Given the description of an element on the screen output the (x, y) to click on. 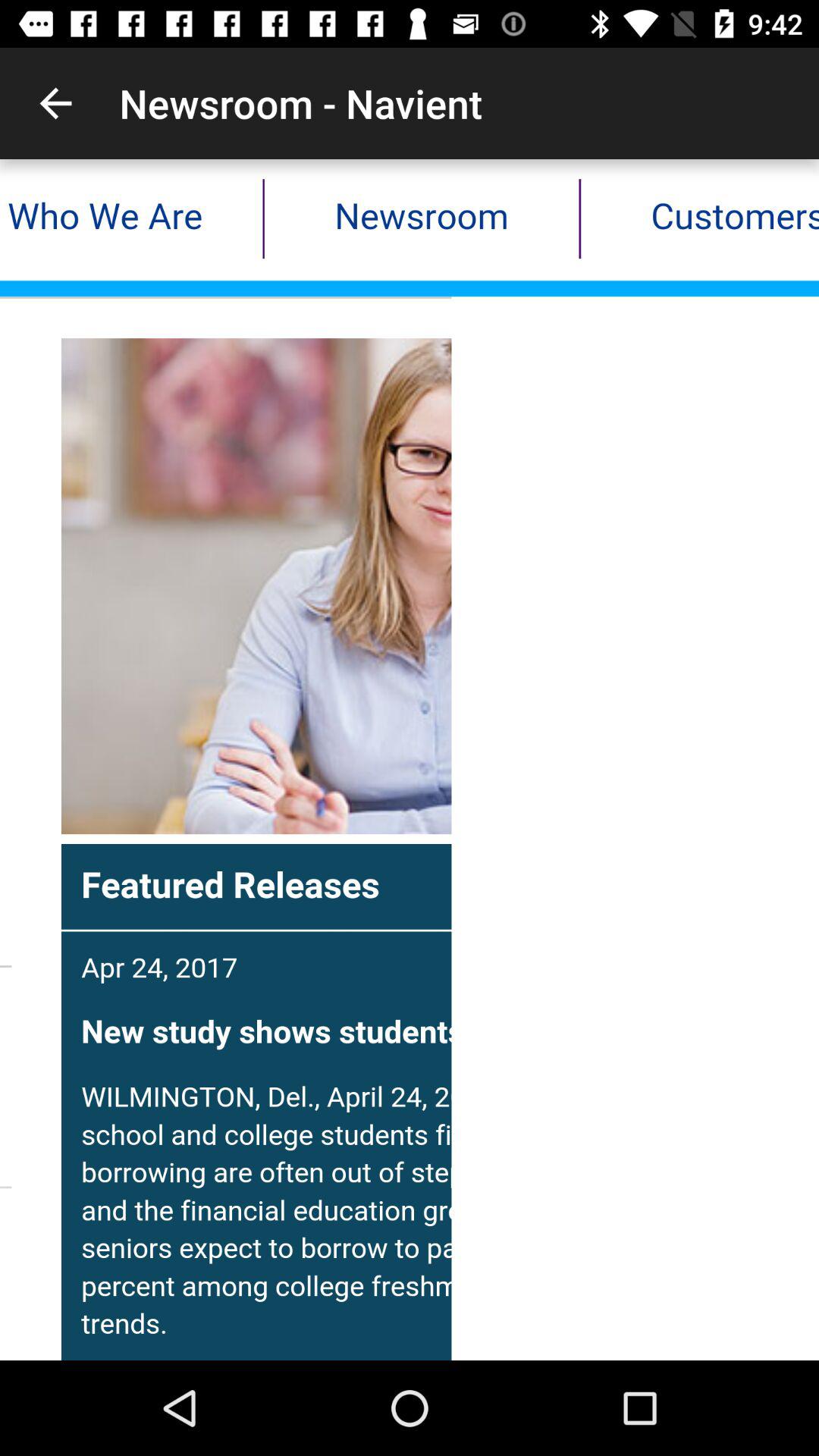
advertisement (409, 759)
